Given the description of an element on the screen output the (x, y) to click on. 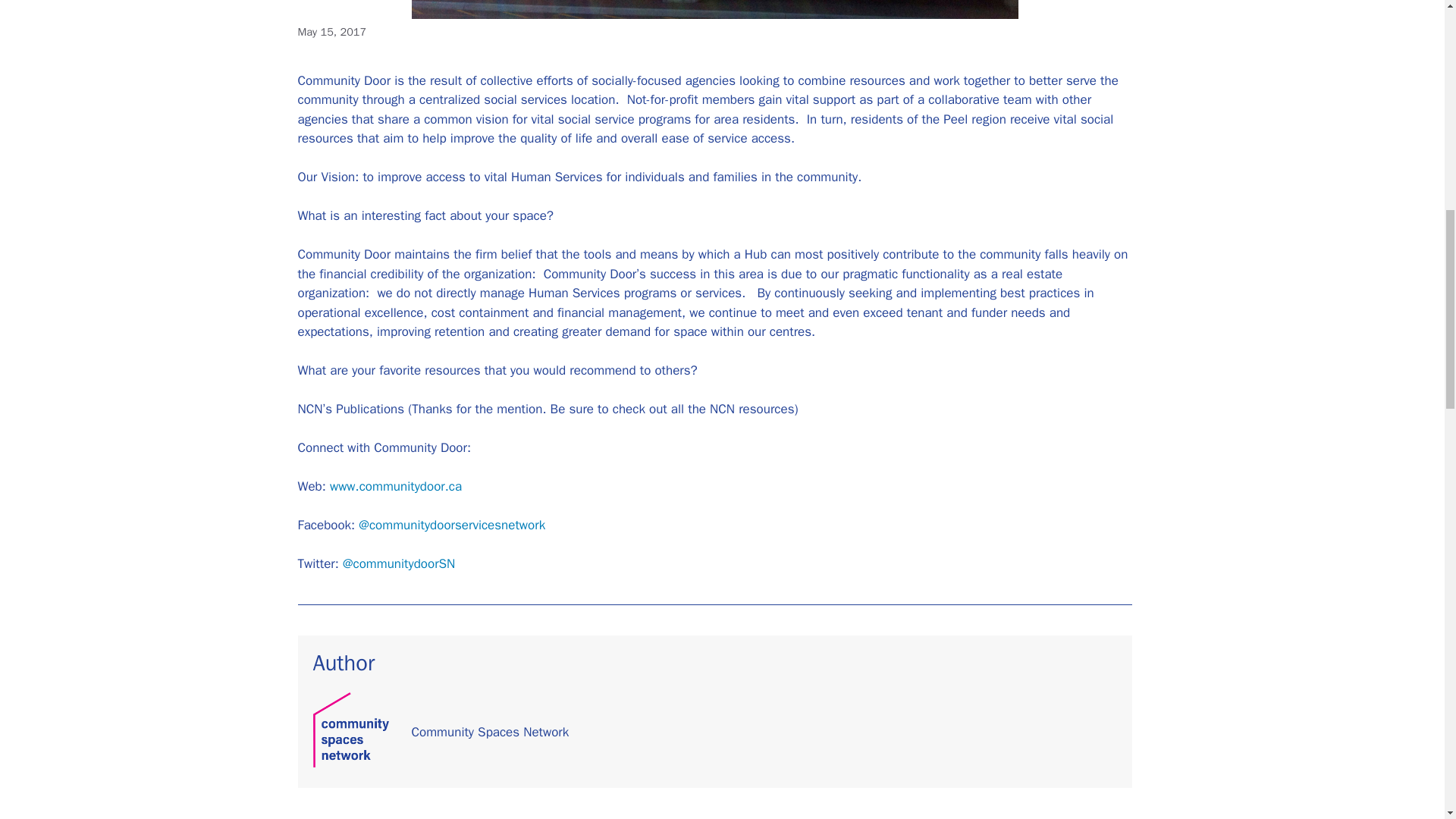
www.communitydoor.ca (395, 486)
